Given the description of an element on the screen output the (x, y) to click on. 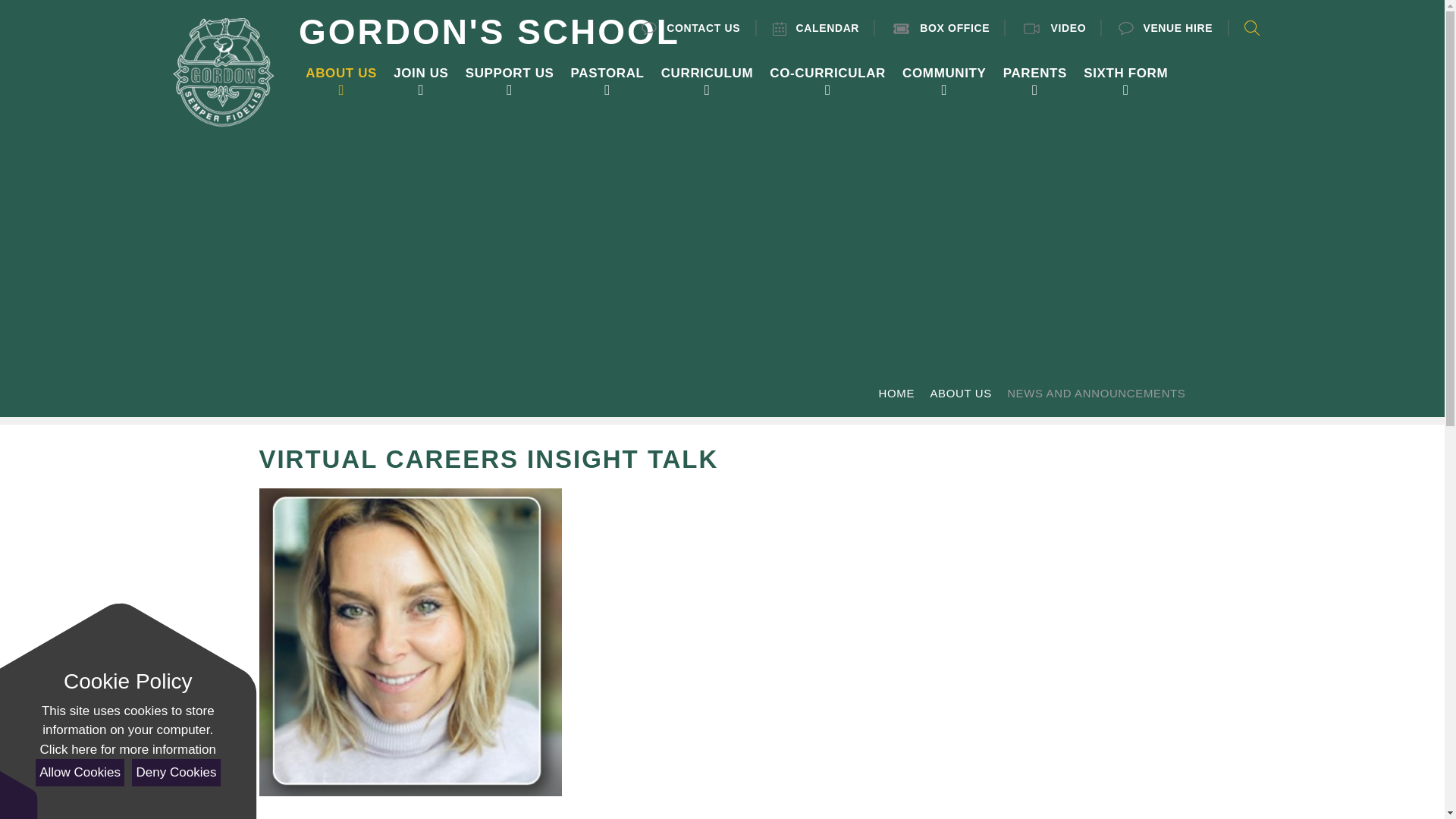
Close Cookie Settings (121, 621)
Deny Cookies (175, 772)
JOIN US (420, 72)
Allow Cookies (78, 772)
See cookie policy (127, 750)
ABOUT US (341, 72)
